Given the description of an element on the screen output the (x, y) to click on. 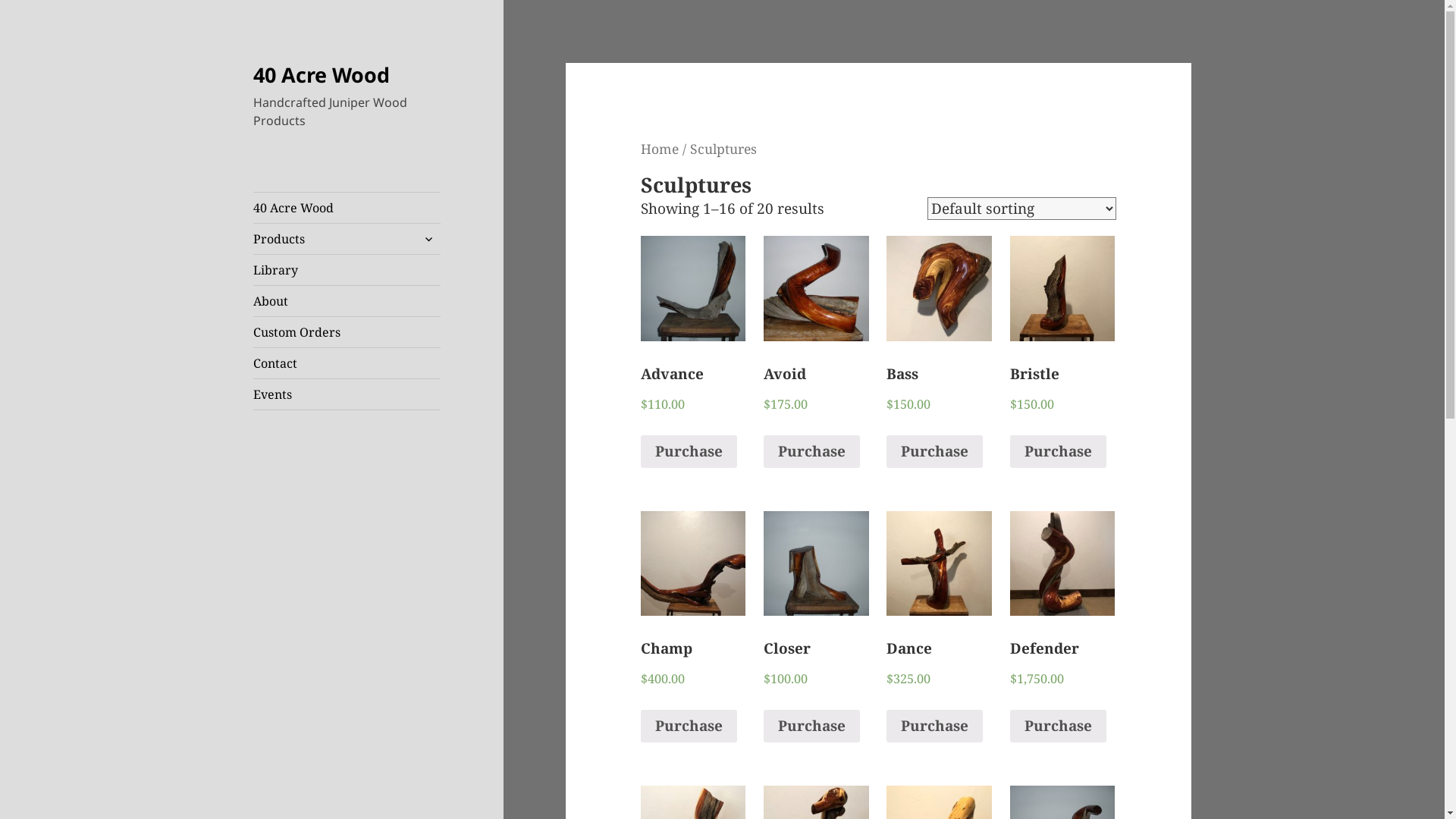
Defender
$1,750.00 Element type: text (1062, 623)
expand child menu Element type: text (428, 238)
About Element type: text (347, 300)
Closer
$100.00 Element type: text (815, 623)
40 Acre Wood Element type: text (321, 74)
Purchase Element type: text (811, 451)
Home Element type: text (659, 148)
Purchase Element type: text (688, 451)
Purchase Element type: text (688, 725)
Contact Element type: text (347, 363)
Purchase Element type: text (1058, 451)
Events Element type: text (347, 394)
Avoid
$175.00 Element type: text (815, 348)
Library Element type: text (347, 269)
Dance
$325.00 Element type: text (938, 623)
Bristle
$150.00 Element type: text (1062, 348)
Champ
$400.00 Element type: text (692, 623)
Purchase Element type: text (934, 451)
Custom Orders Element type: text (347, 331)
Products Element type: text (347, 238)
Purchase Element type: text (811, 725)
40 Acre Wood Element type: text (347, 207)
Purchase Element type: text (1058, 725)
Bass
$150.00 Element type: text (938, 348)
Purchase Element type: text (934, 725)
Advance
$110.00 Element type: text (692, 348)
